Given the description of an element on the screen output the (x, y) to click on. 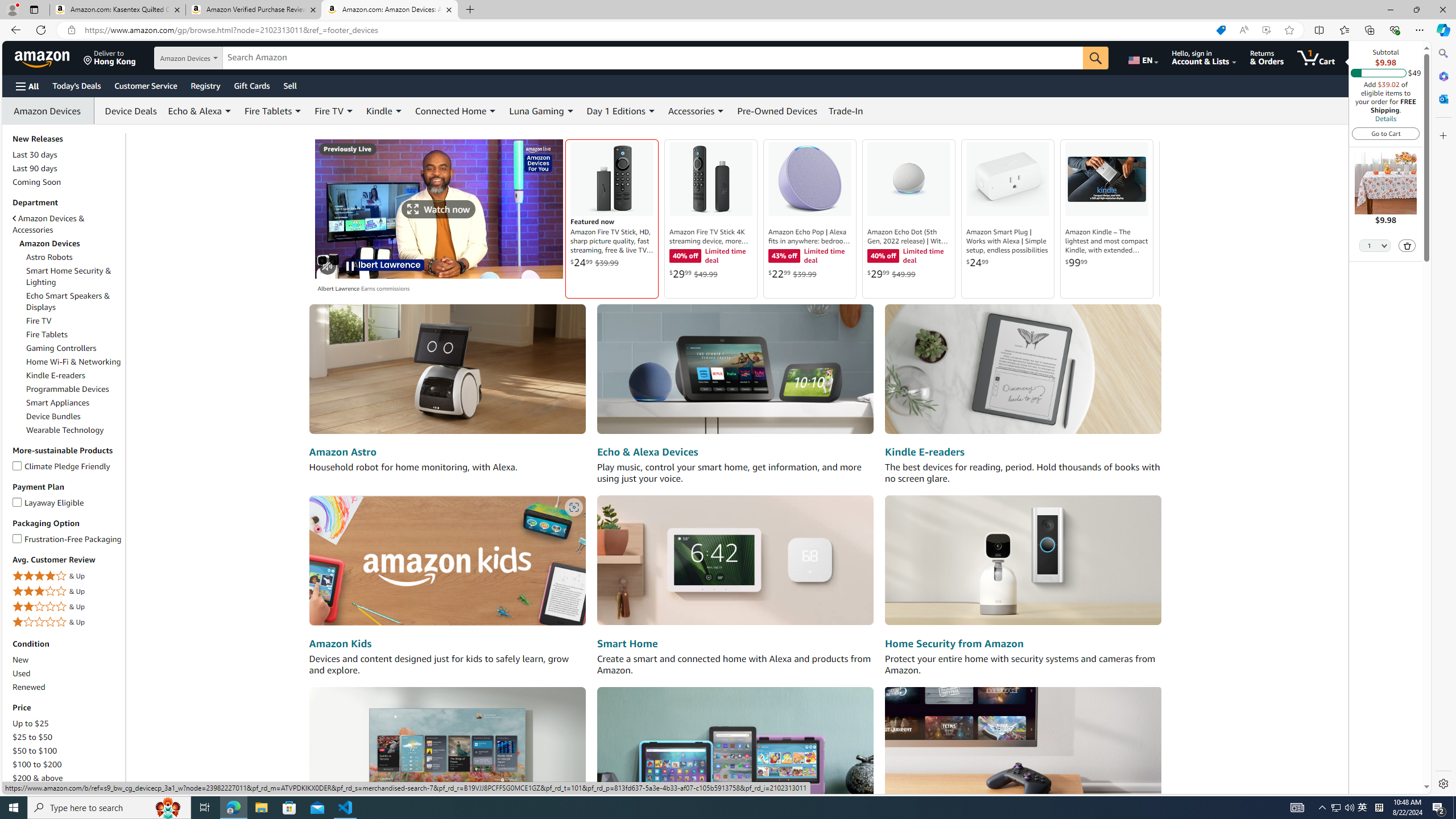
Luna Gaming (541, 110)
Layaway Eligible (17, 500)
Smart Home devices (734, 560)
Fire Tablets (46, 334)
Frustration-Free Packaging (17, 536)
Deliver to Hong Kong (109, 57)
Open Menu (26, 86)
1 item in cart (1315, 57)
Shopping in Microsoft Edge (1220, 29)
Climate Pledge Friendly (17, 463)
